Given the description of an element on the screen output the (x, y) to click on. 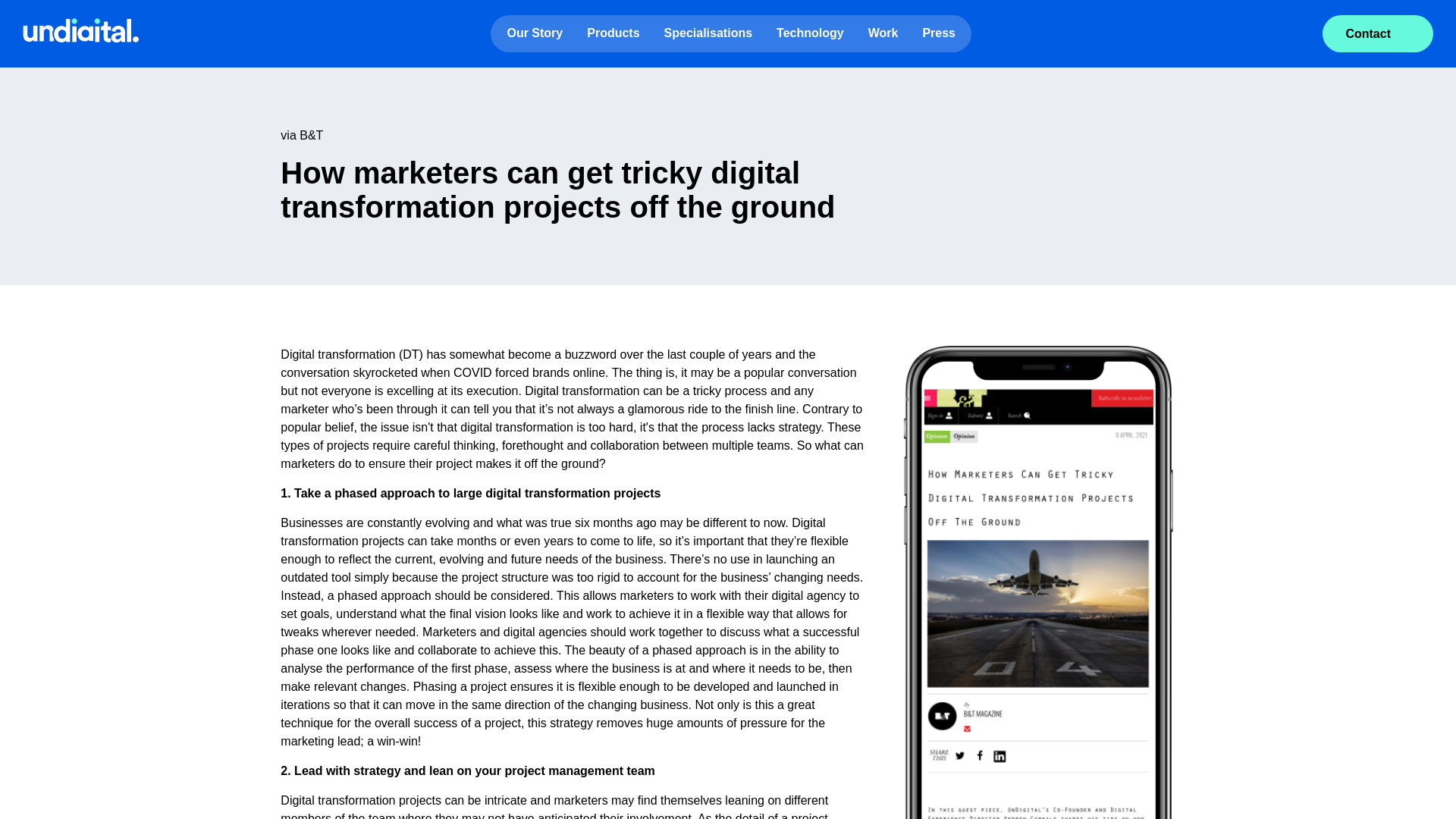
Technology (810, 33)
Specialisations (708, 33)
Contact (1377, 33)
Our Story (535, 33)
Press (939, 33)
Products (612, 33)
Work (883, 33)
